Given the description of an element on the screen output the (x, y) to click on. 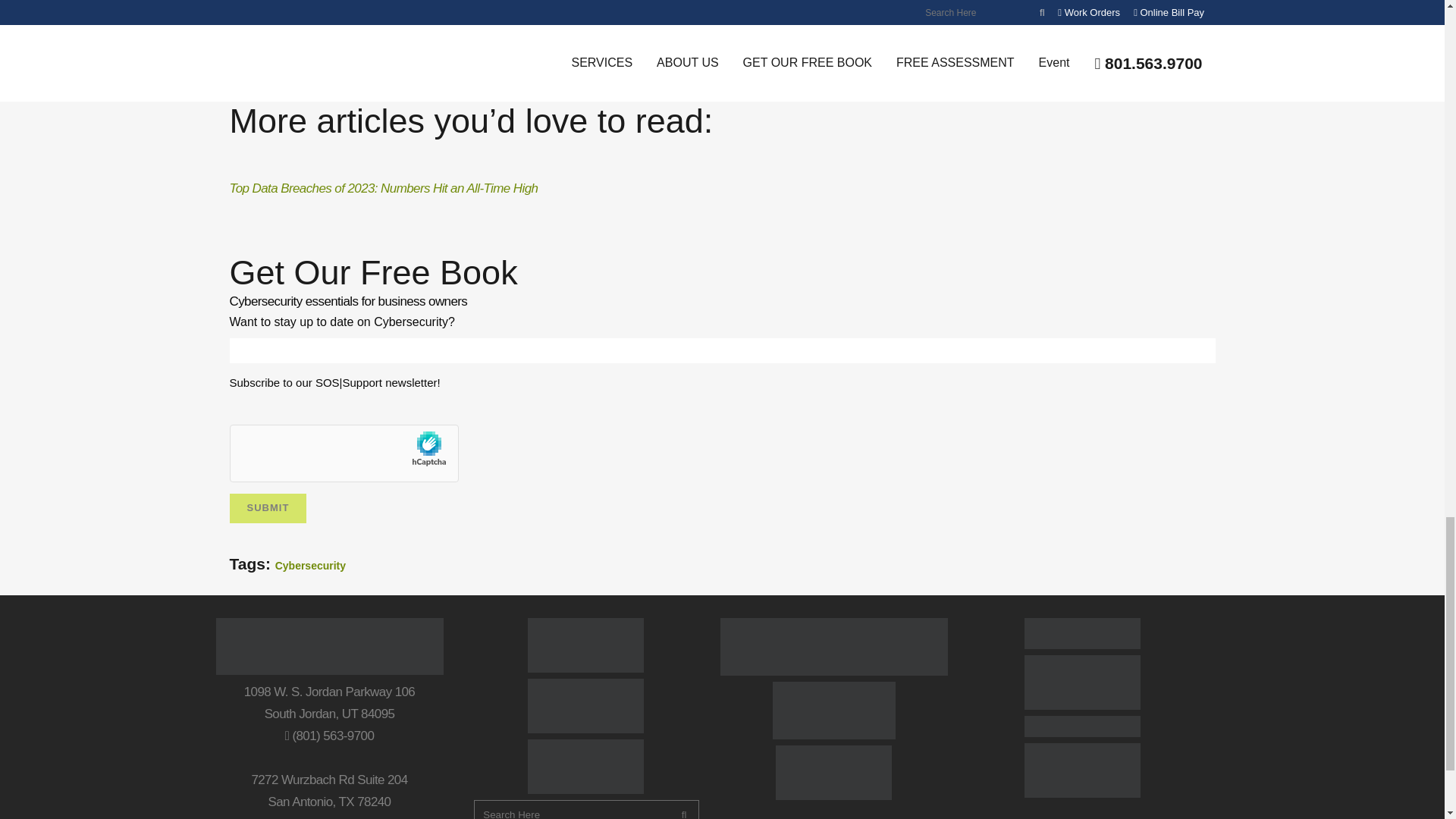
Submit (266, 508)
